Given the description of an element on the screen output the (x, y) to click on. 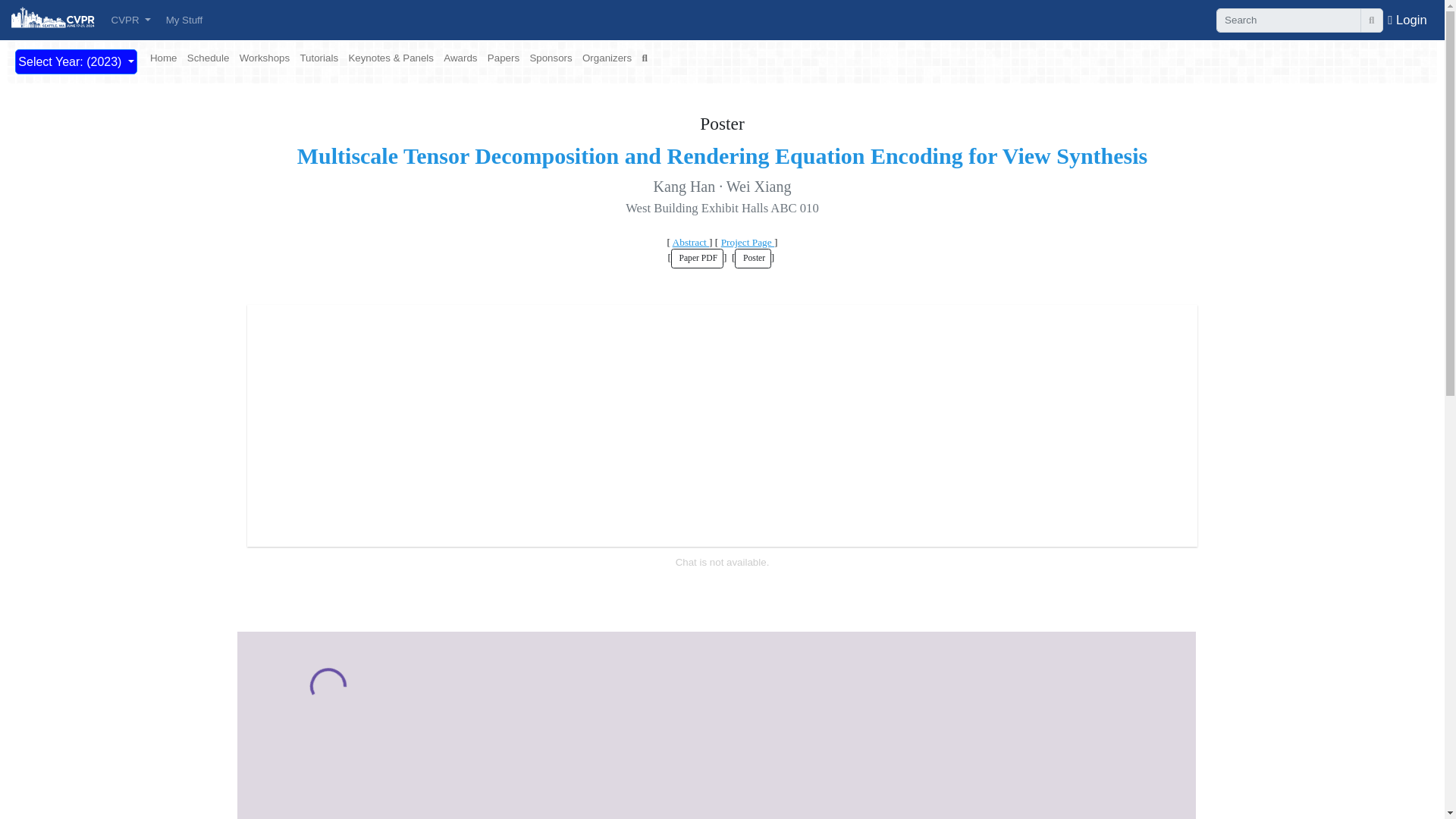
Login (1406, 19)
Project Page (747, 242)
Paper PDF (697, 258)
Sponsors (551, 57)
Schedule (207, 57)
Tutorials (318, 57)
Poster (752, 258)
Papers (503, 57)
Workshops (263, 57)
Abstract (690, 242)
